Given the description of an element on the screen output the (x, y) to click on. 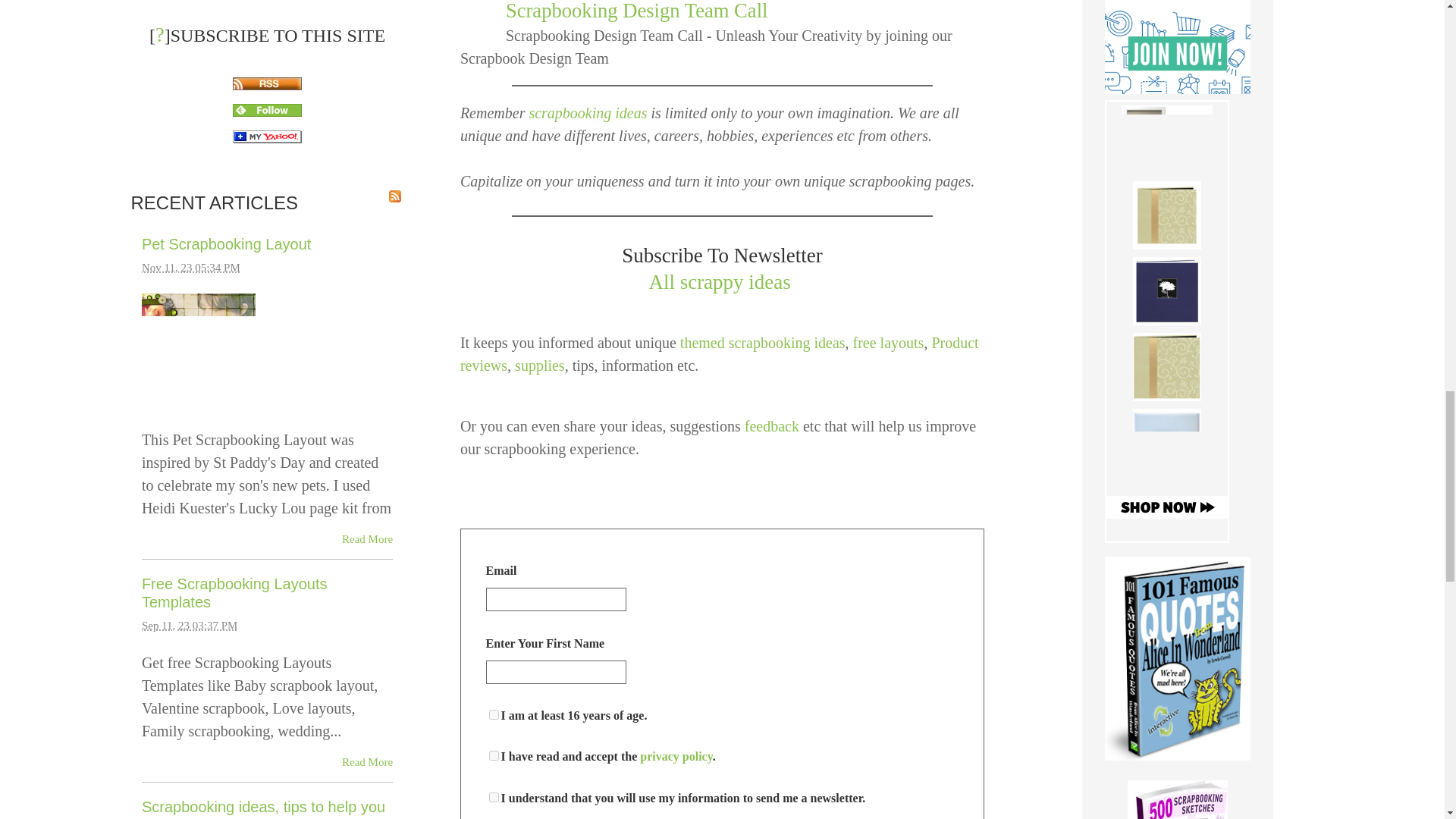
scrapbooking ideas (587, 112)
on (494, 797)
Scrapbooking Design Team Call (636, 11)
2023-11-11T17:34:42-0500 (190, 267)
2023-09-11T15:37:16-0400 (189, 625)
on (494, 714)
All scrappy ideas (718, 282)
on (494, 755)
